Given the description of an element on the screen output the (x, y) to click on. 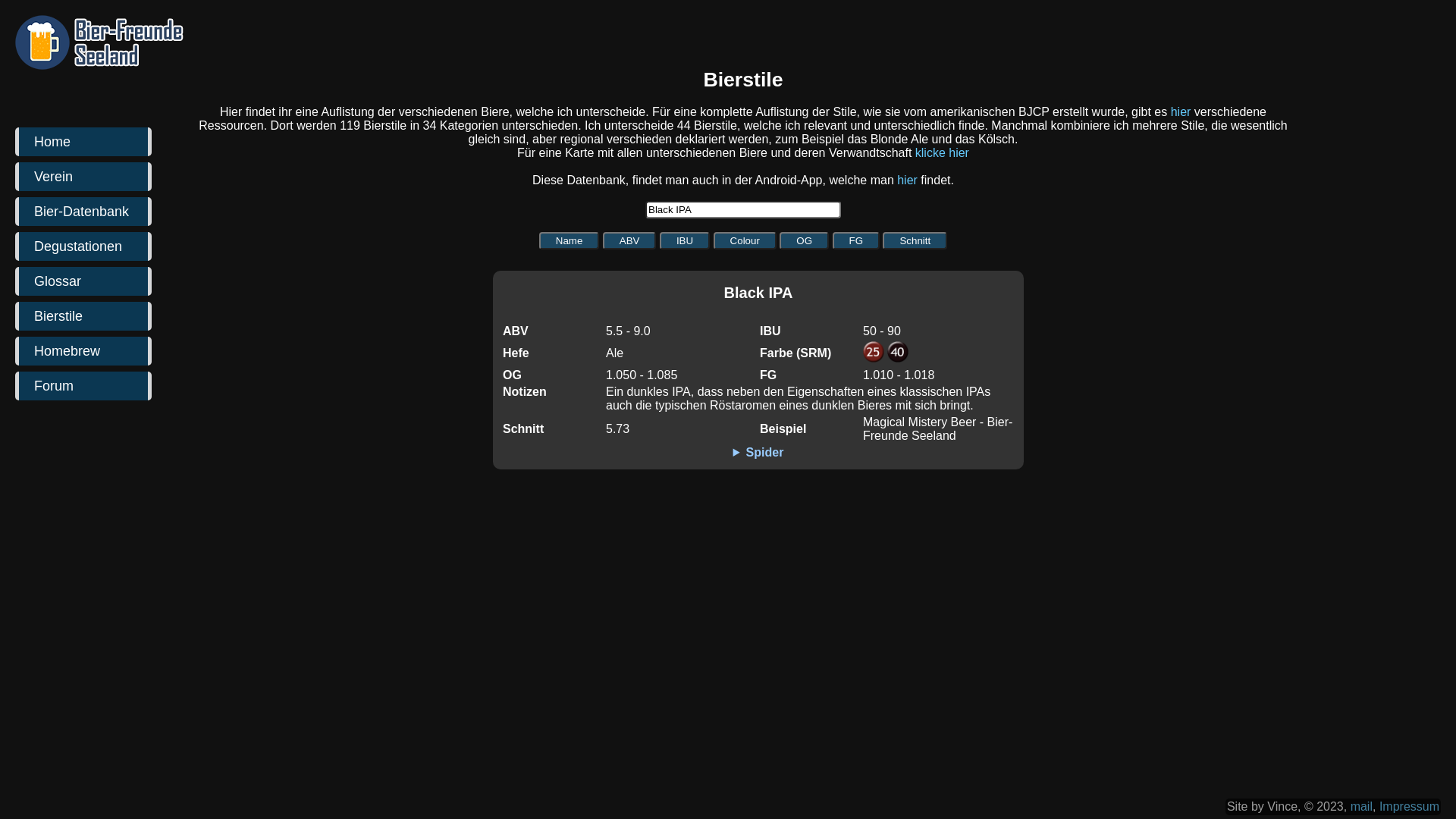
Homebrew Element type: text (82, 350)
Home Element type: text (82, 141)
hier Element type: text (907, 179)
Degustationen Element type: text (82, 246)
Colour Element type: text (744, 240)
Bier-Datenbank Element type: text (82, 211)
mail Element type: text (1361, 806)
FG Element type: text (856, 240)
Forum Element type: text (82, 385)
Name Element type: text (569, 240)
Impressum Element type: text (1409, 806)
IBU Element type: text (684, 240)
Schnitt Element type: text (914, 240)
Verein Element type: text (82, 176)
OG Element type: text (803, 240)
klicke hier Element type: text (942, 152)
Bierstile Element type: text (82, 315)
hier Element type: text (1180, 111)
ABV Element type: text (629, 240)
Glossar Element type: text (82, 280)
